Given the description of an element on the screen output the (x, y) to click on. 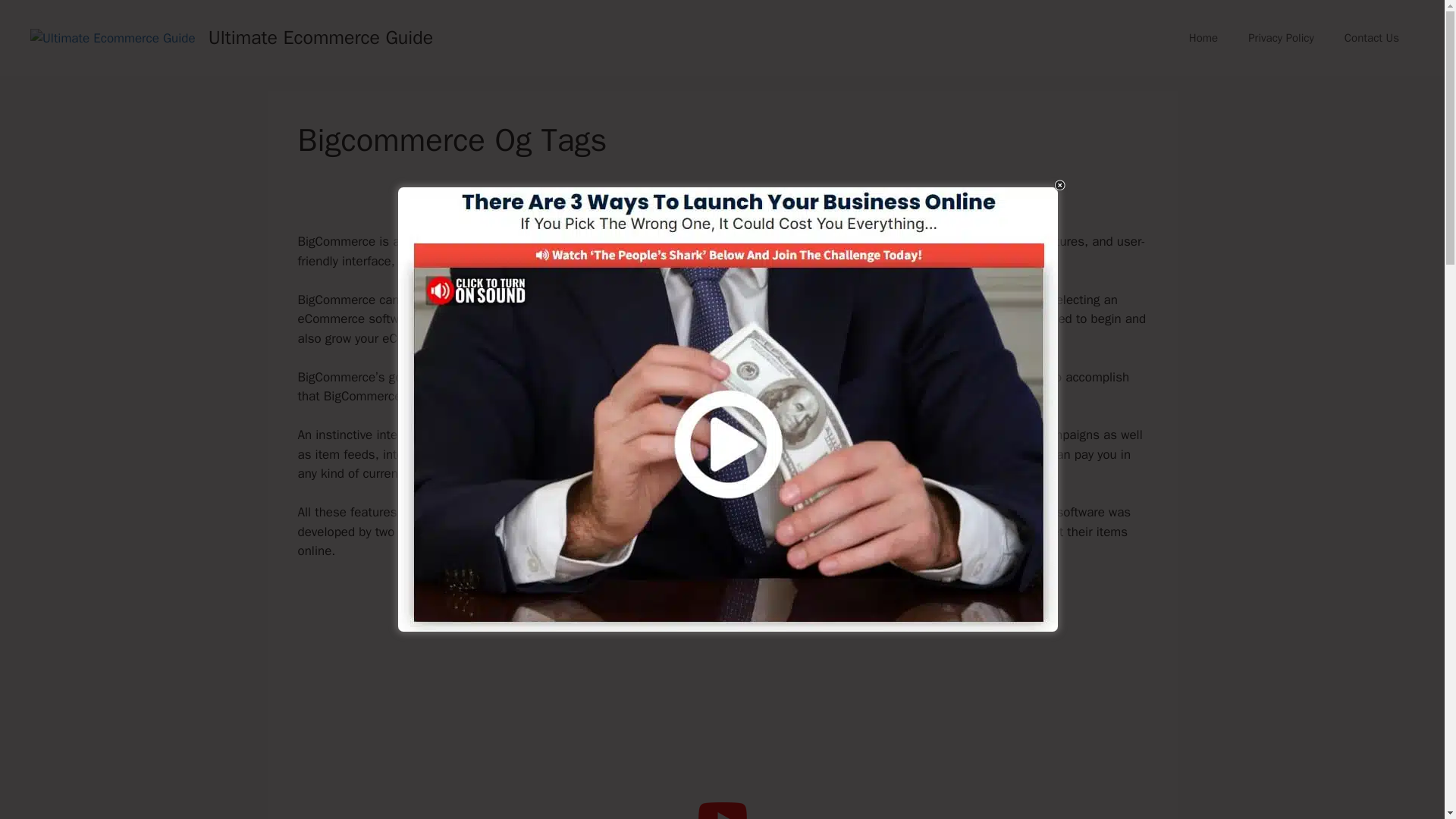
Home (1203, 37)
eCommerce (481, 241)
Privacy Policy (1281, 37)
Ultimate Ecommerce Guide (320, 37)
Contact Us (1371, 37)
Close (1071, 175)
